Given the description of an element on the screen output the (x, y) to click on. 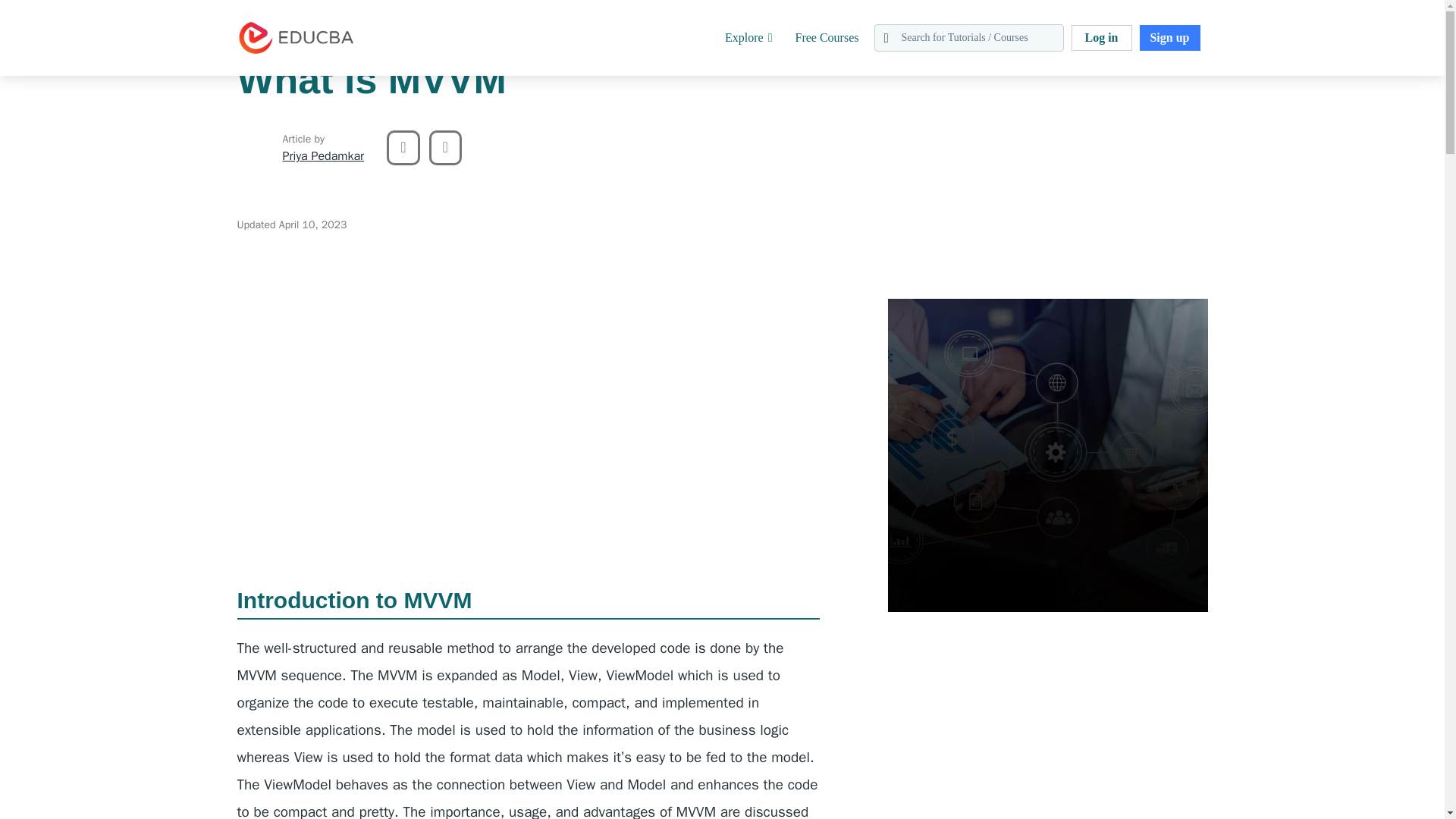
Sign up (1168, 37)
Search (43, 19)
Home (13, 9)
Software Development (92, 9)
Log in (1100, 37)
EDUCBA (259, 62)
Priya Pedamkar (255, 147)
Free Courses (826, 37)
ASP.NET Tutorial (359, 9)
Next (445, 147)
